Given the description of an element on the screen output the (x, y) to click on. 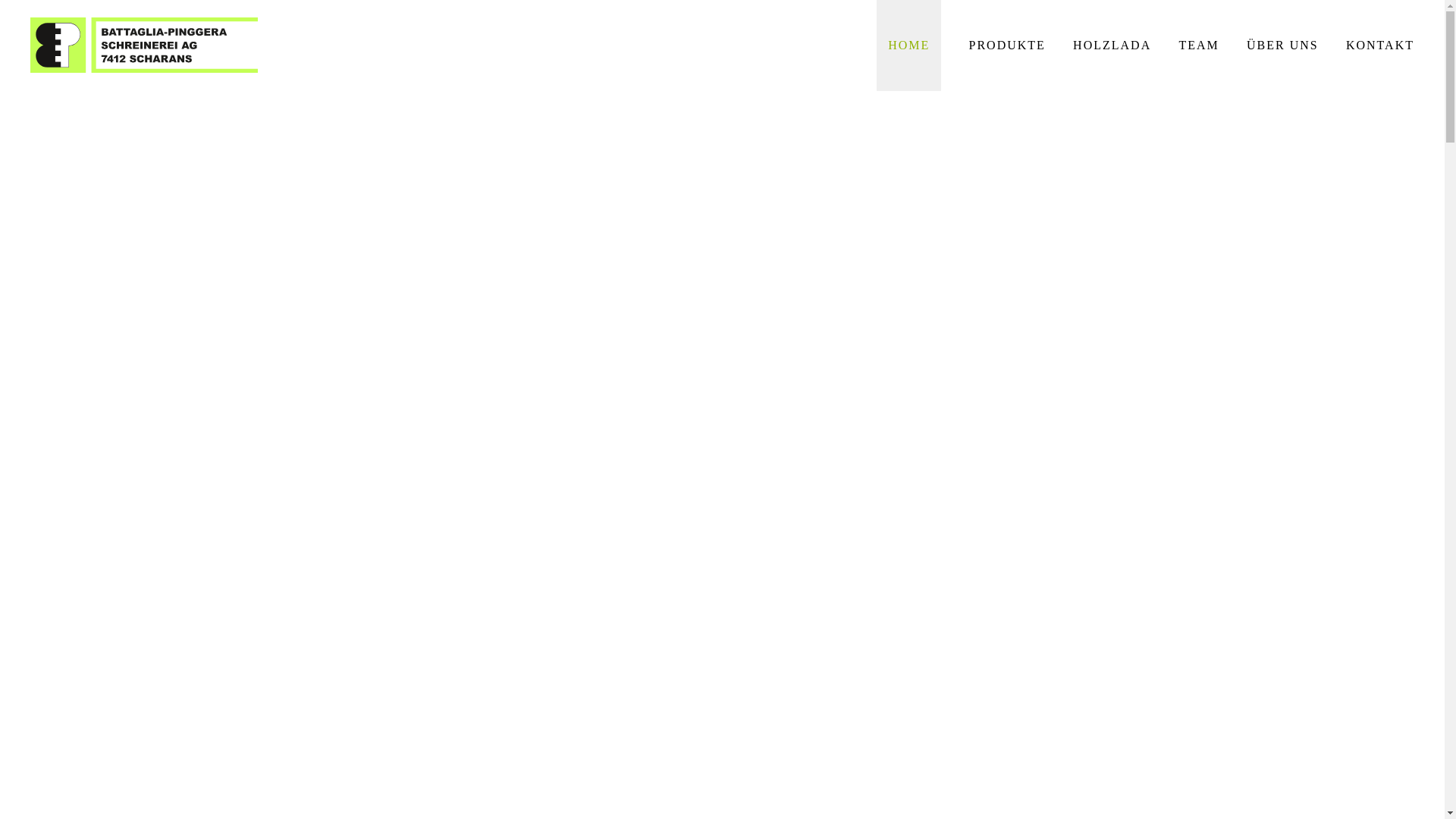
PRODUKTE Element type: text (1007, 45)
KONTAKT Element type: text (1380, 45)
TEAM Element type: text (1198, 45)
HOME Element type: text (908, 45)
HOLZLADA Element type: text (1112, 45)
